Given the description of an element on the screen output the (x, y) to click on. 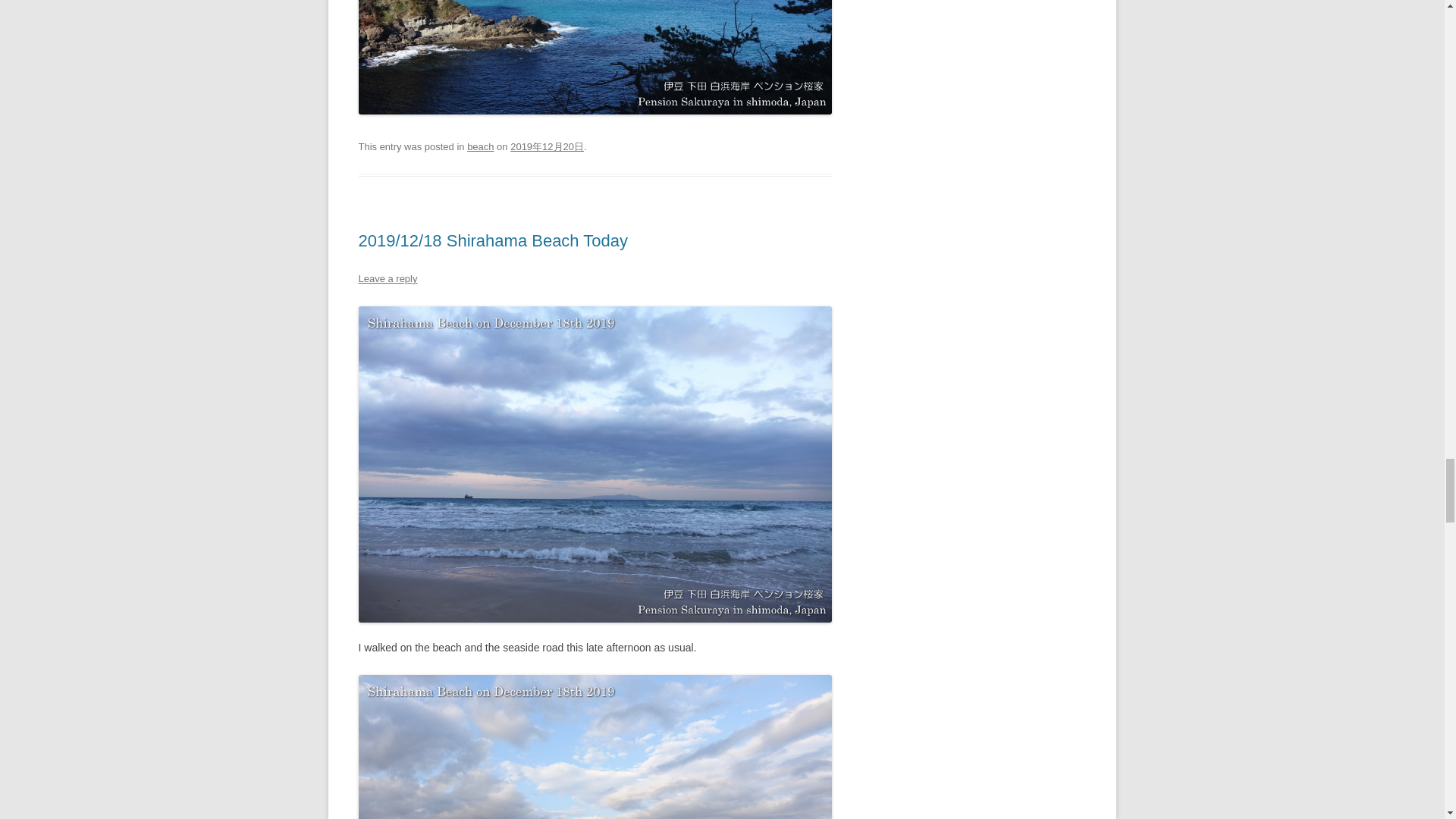
beach (480, 146)
Leave a reply (387, 278)
7:29 PM (547, 146)
